Given the description of an element on the screen output the (x, y) to click on. 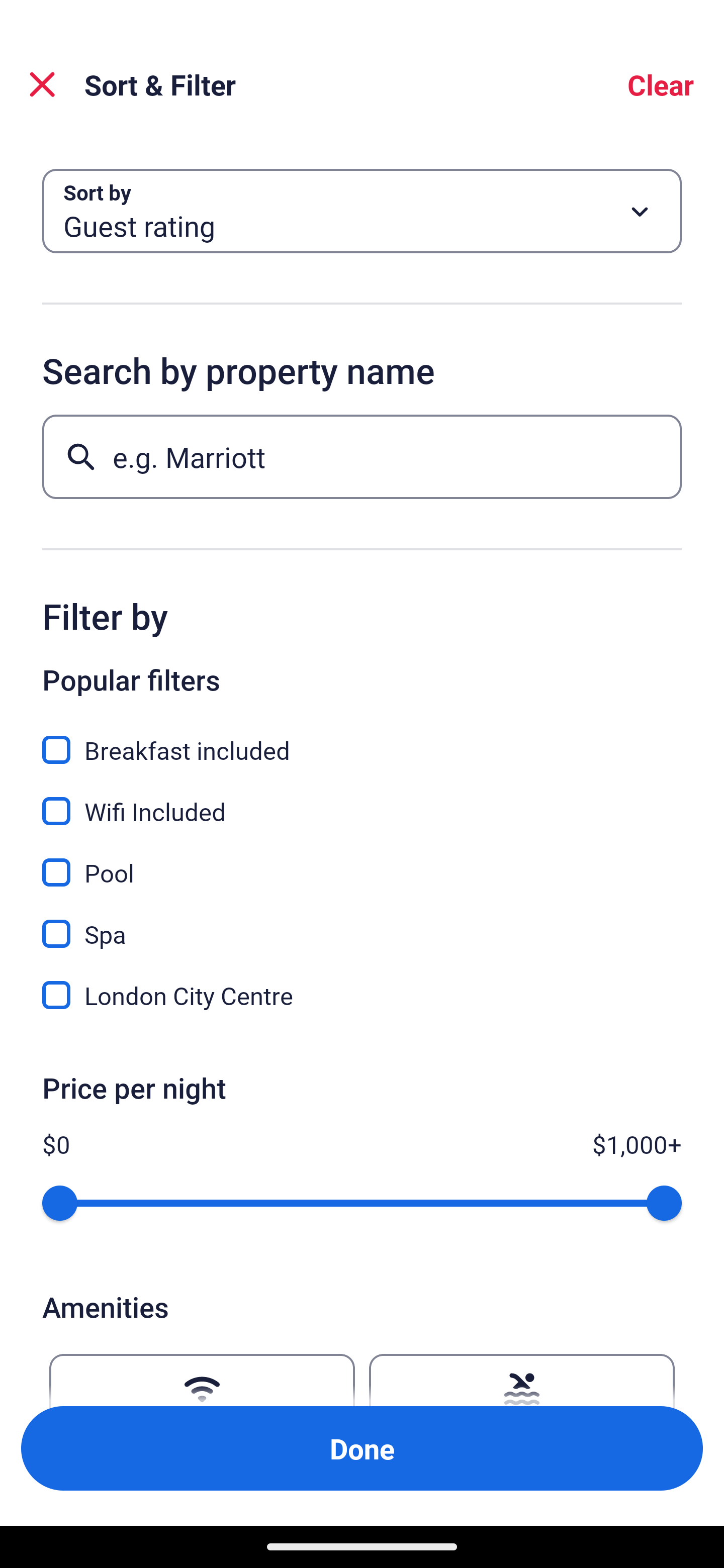
Close Sort and Filter (42, 84)
Clear (660, 84)
Sort by Button Guest rating (361, 211)
e.g. Marriott Button (361, 455)
Breakfast included, Breakfast included (361, 738)
Wifi Included, Wifi Included (361, 800)
Pool, Pool (361, 861)
Spa, Spa (361, 922)
London City Centre, London City Centre (361, 995)
Apply and close Sort and Filter Done (361, 1448)
